Given the description of an element on the screen output the (x, y) to click on. 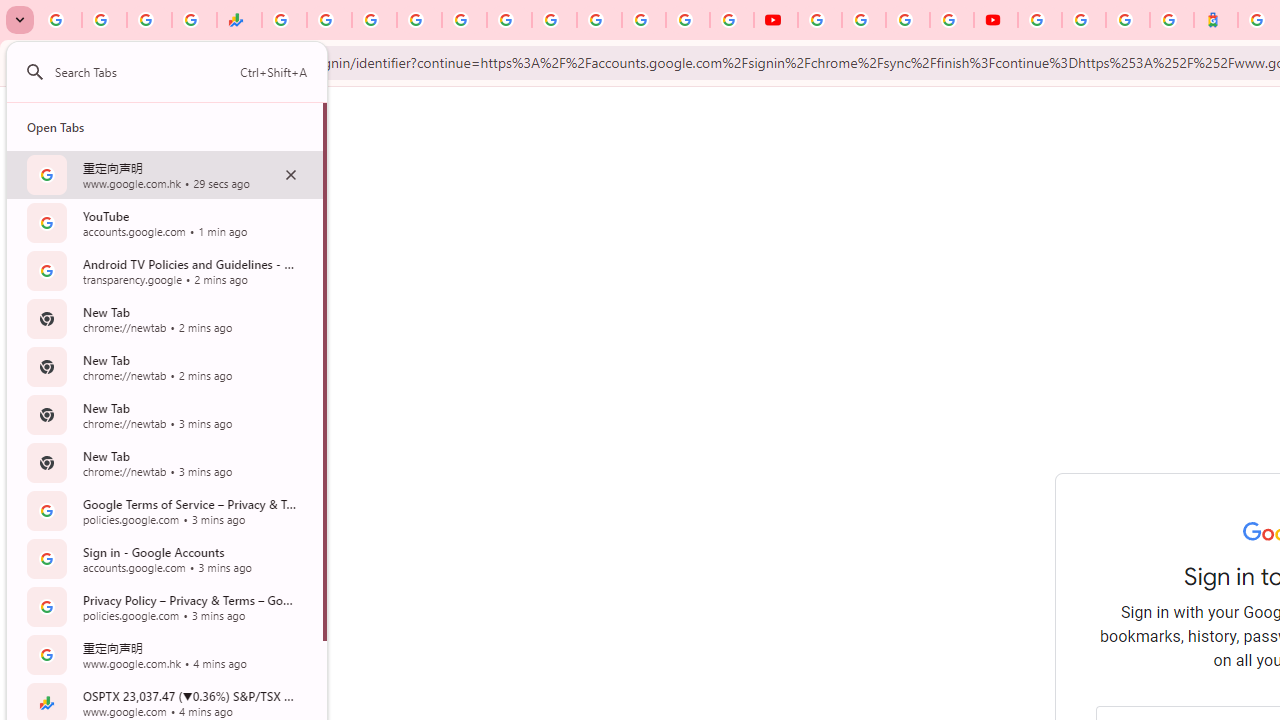
AutomationID: baseSvg (34, 71)
